Given the description of an element on the screen output the (x, y) to click on. 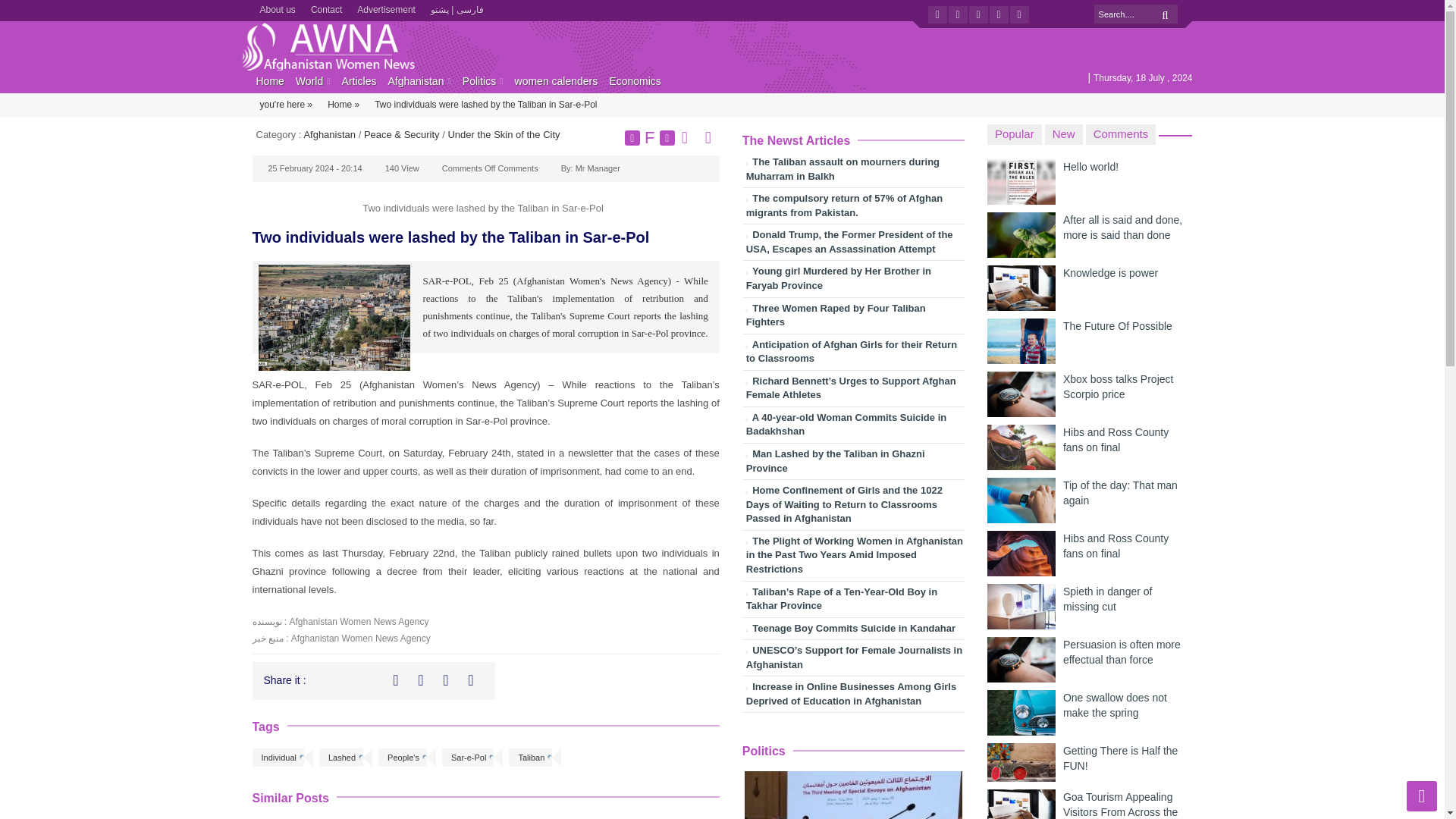
Advertisement (386, 7)
Afghanistan (328, 134)
The Taliban assault on mourners during Muharram in Balkh (852, 171)
Home (268, 80)
Politics (478, 80)
Contact (325, 7)
Anticipation of Afghan Girls for their Return to Classrooms (852, 354)
Afghanistan (415, 80)
Articles (358, 80)
women calenders (556, 80)
Three Women Raped by Four Taliban Fighters (852, 317)
Under the Skin of the City (502, 134)
World (309, 80)
Economics (634, 80)
